Given the description of an element on the screen output the (x, y) to click on. 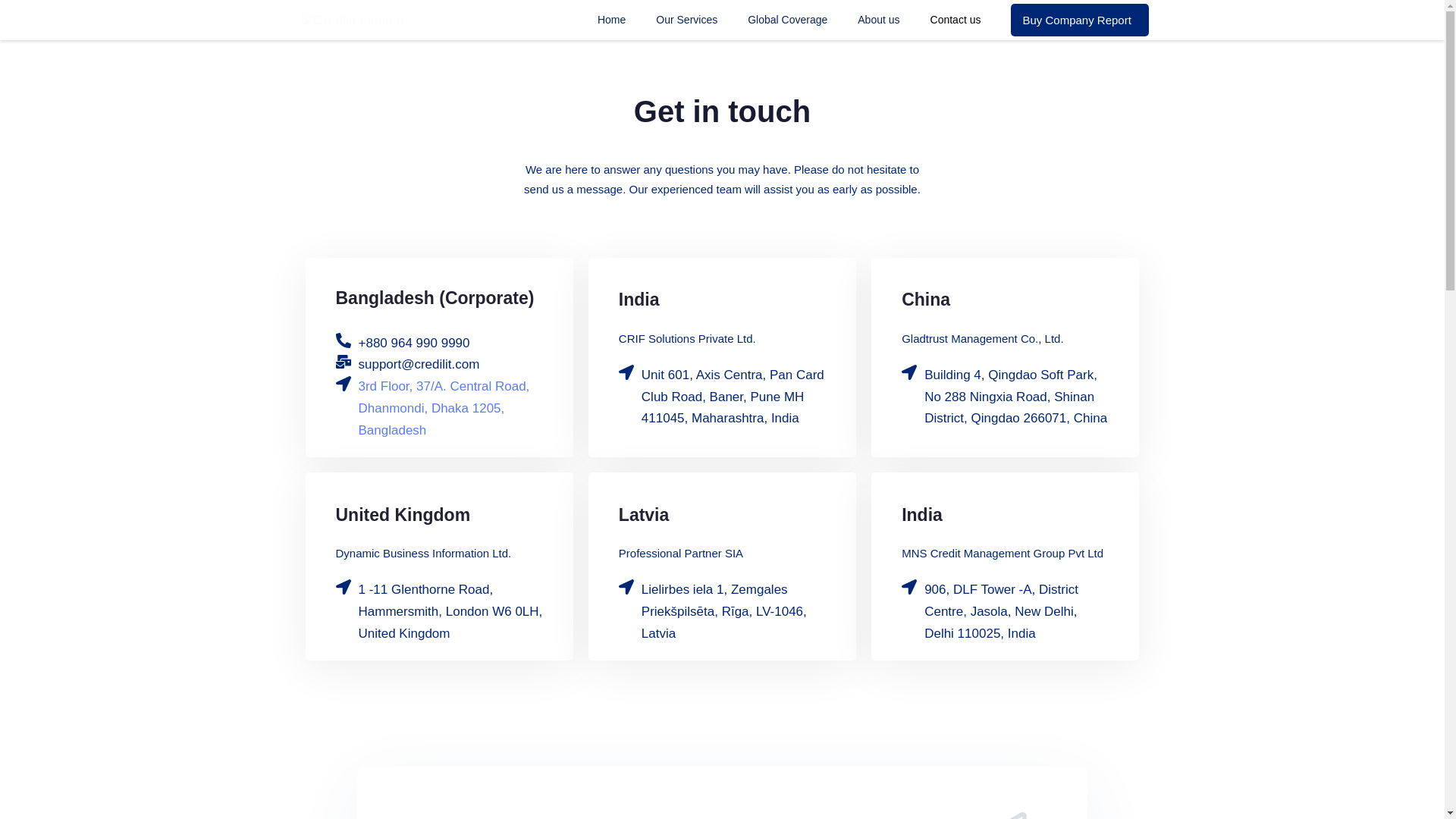
Our Services (686, 20)
About us (878, 20)
Global Coverage (787, 20)
Contact us (955, 20)
Buy Company Report (1079, 20)
Home (611, 20)
